Given the description of an element on the screen output the (x, y) to click on. 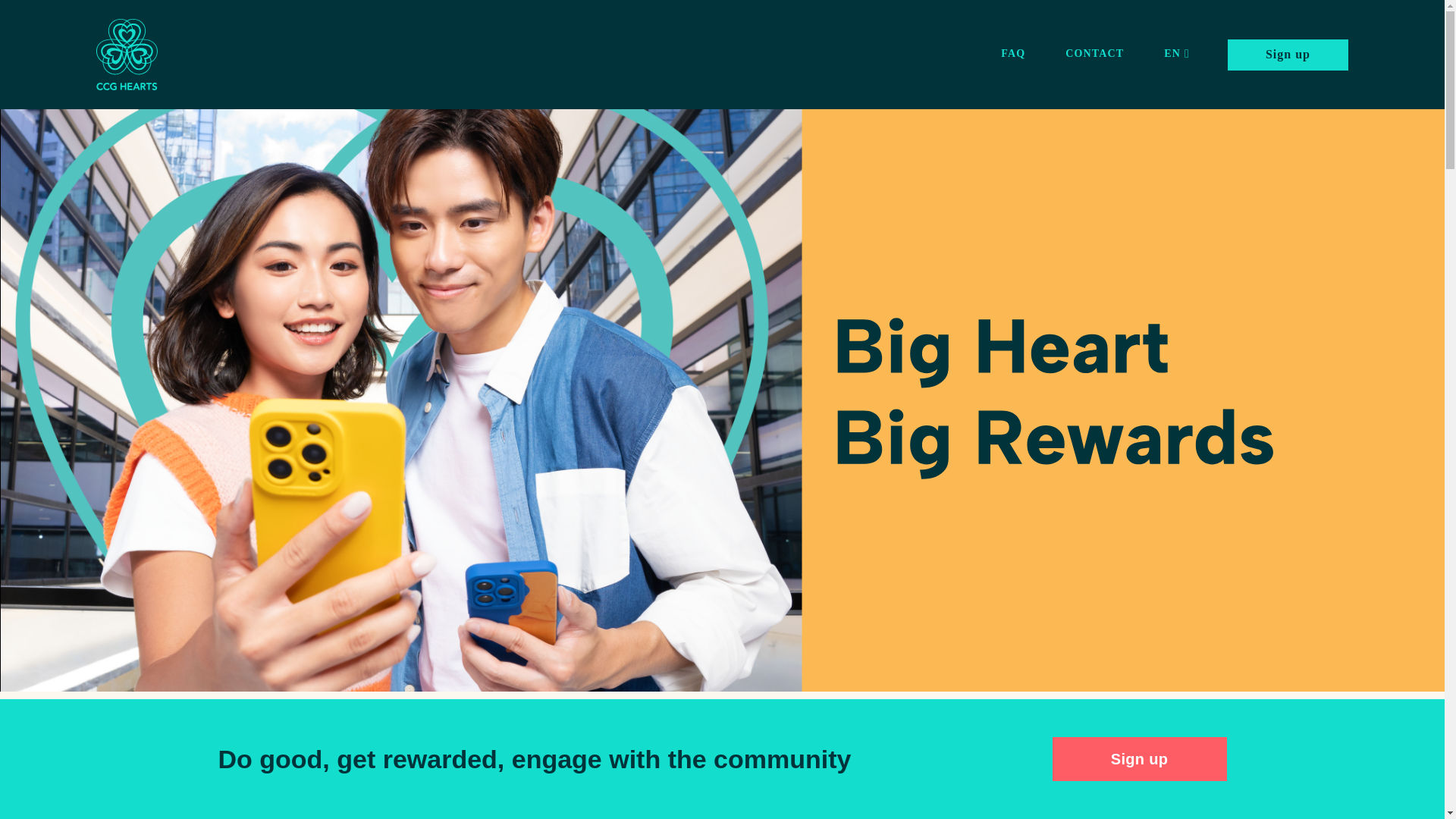
CONTACT (1093, 54)
EN (1176, 54)
FAQ (1012, 54)
Sign up (1287, 54)
Sign up (1139, 759)
Sign up (1287, 54)
